Given the description of an element on the screen output the (x, y) to click on. 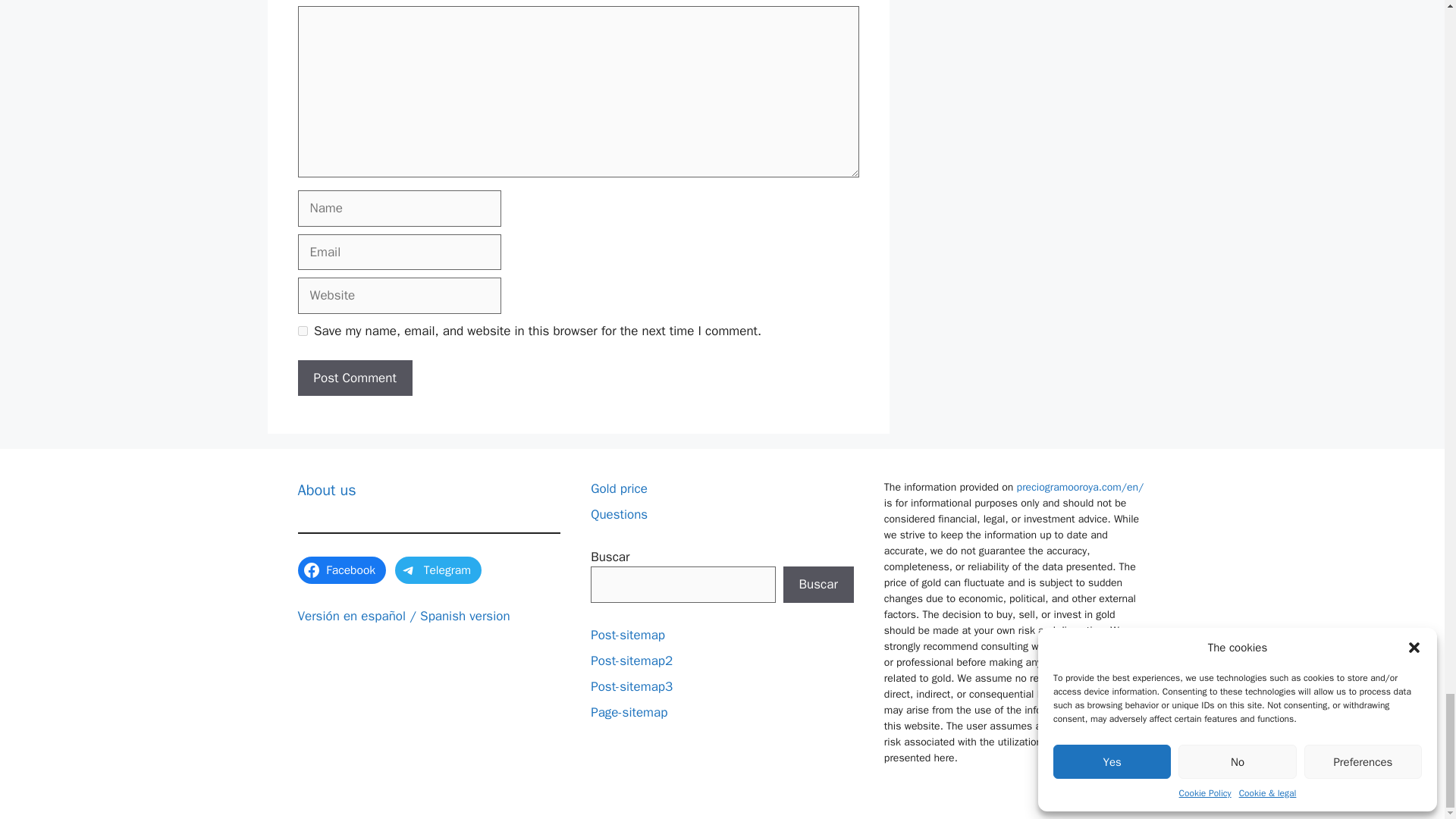
Post Comment (354, 378)
Post Comment (354, 378)
yes (302, 330)
